Given the description of an element on the screen output the (x, y) to click on. 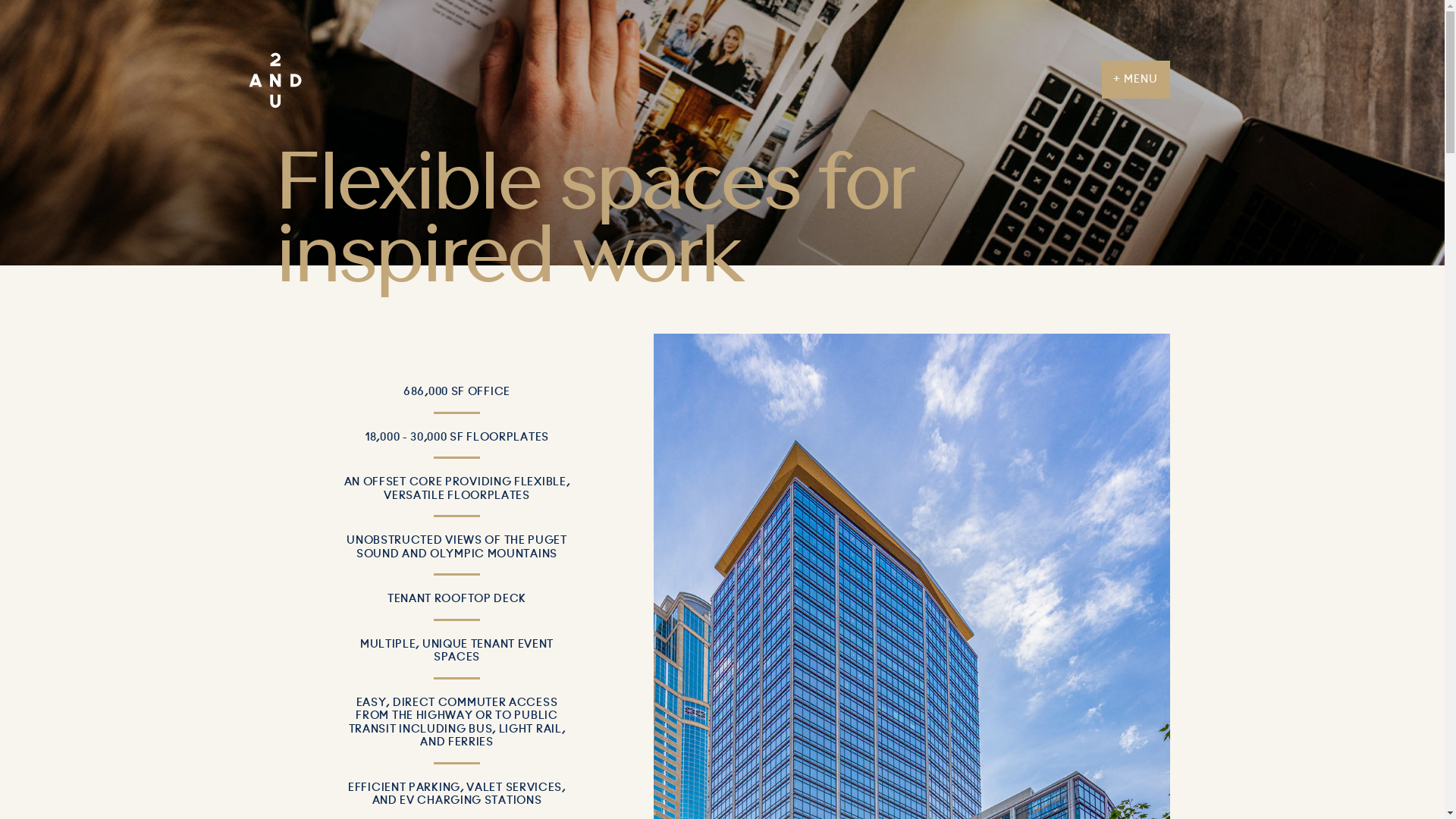
+ MENU Element type: text (1135, 79)
